Given the description of an element on the screen output the (x, y) to click on. 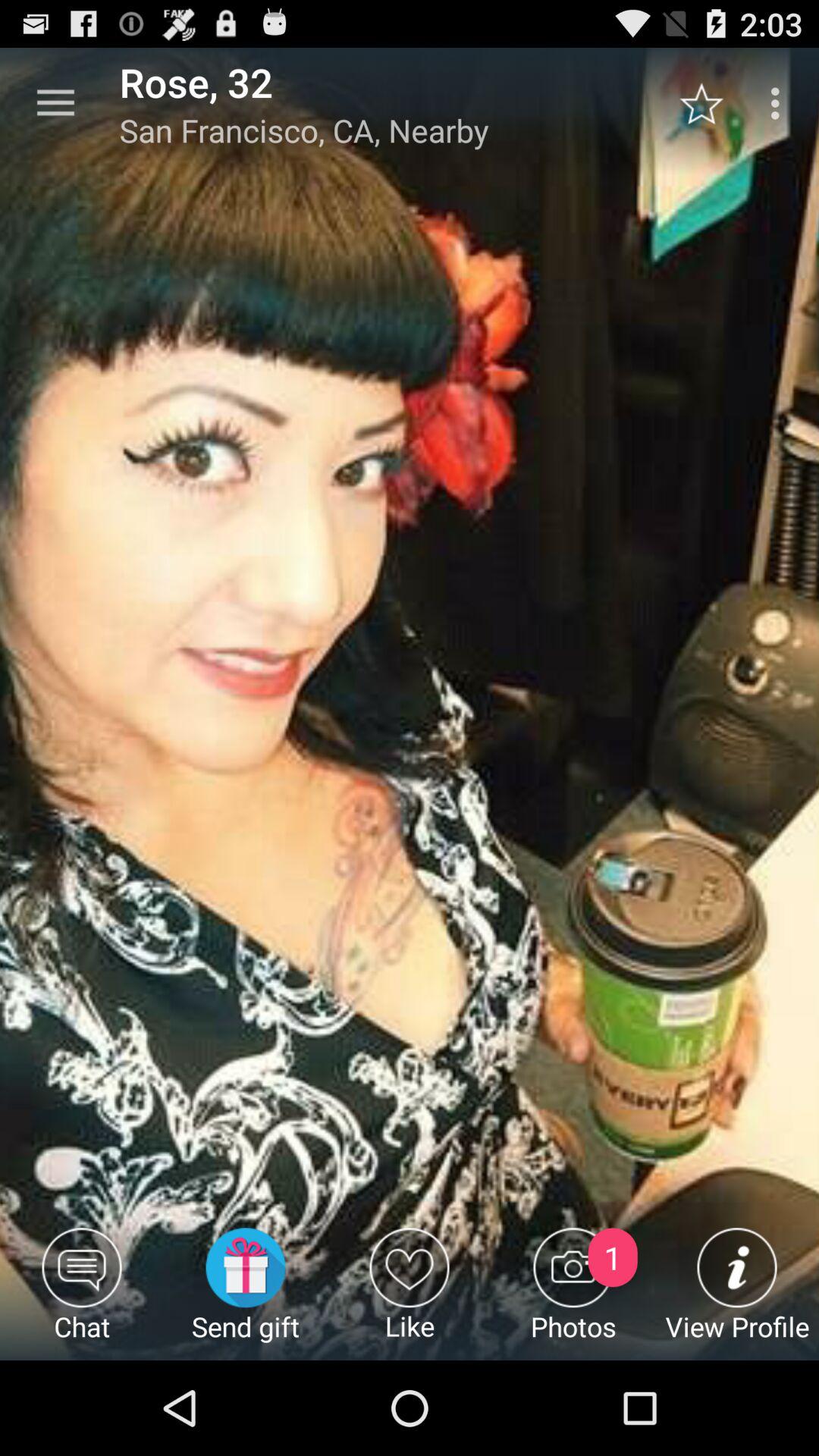
jump until photos (573, 1293)
